Given the description of an element on the screen output the (x, y) to click on. 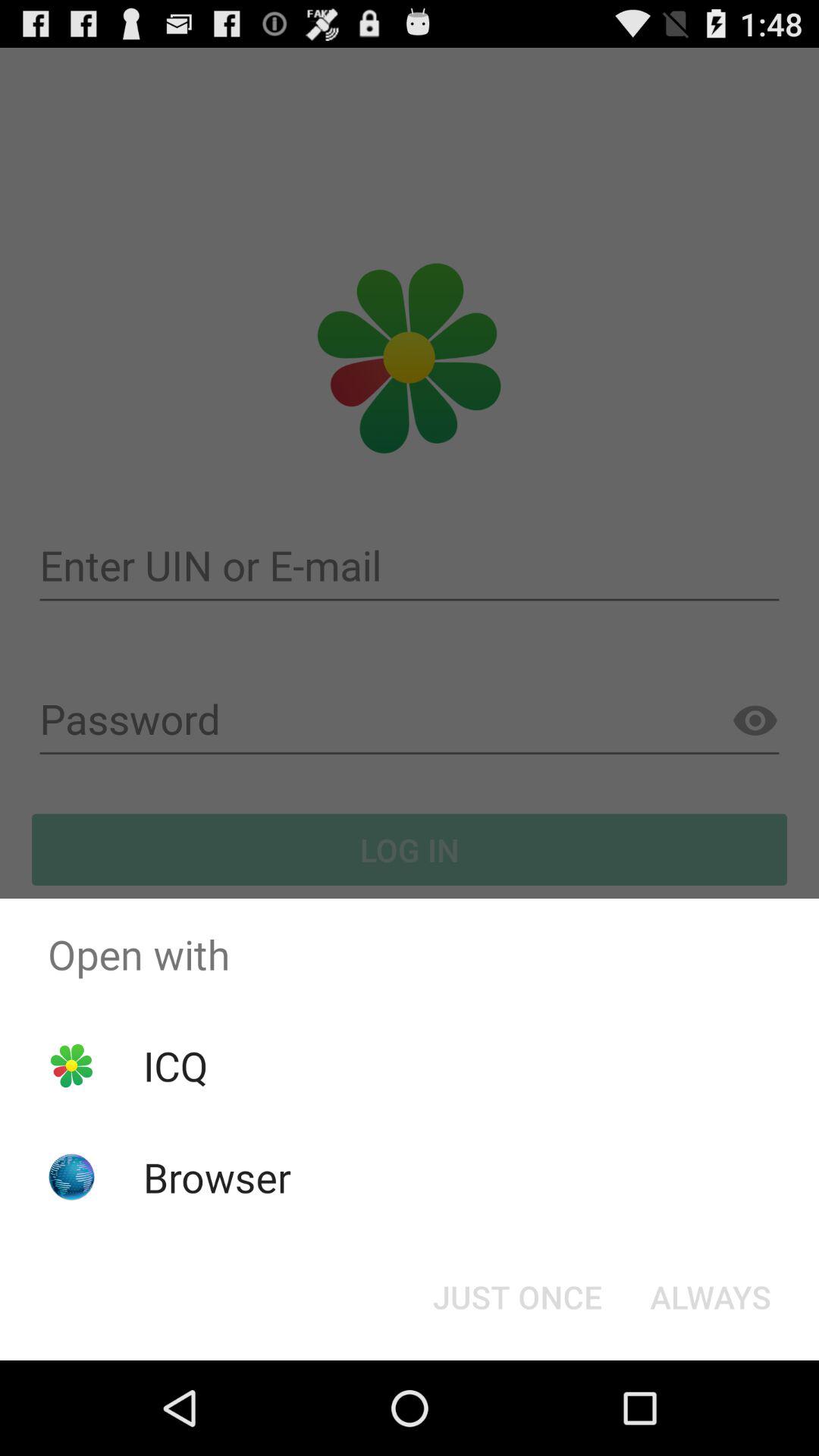
select the app above browser (175, 1065)
